Given the description of an element on the screen output the (x, y) to click on. 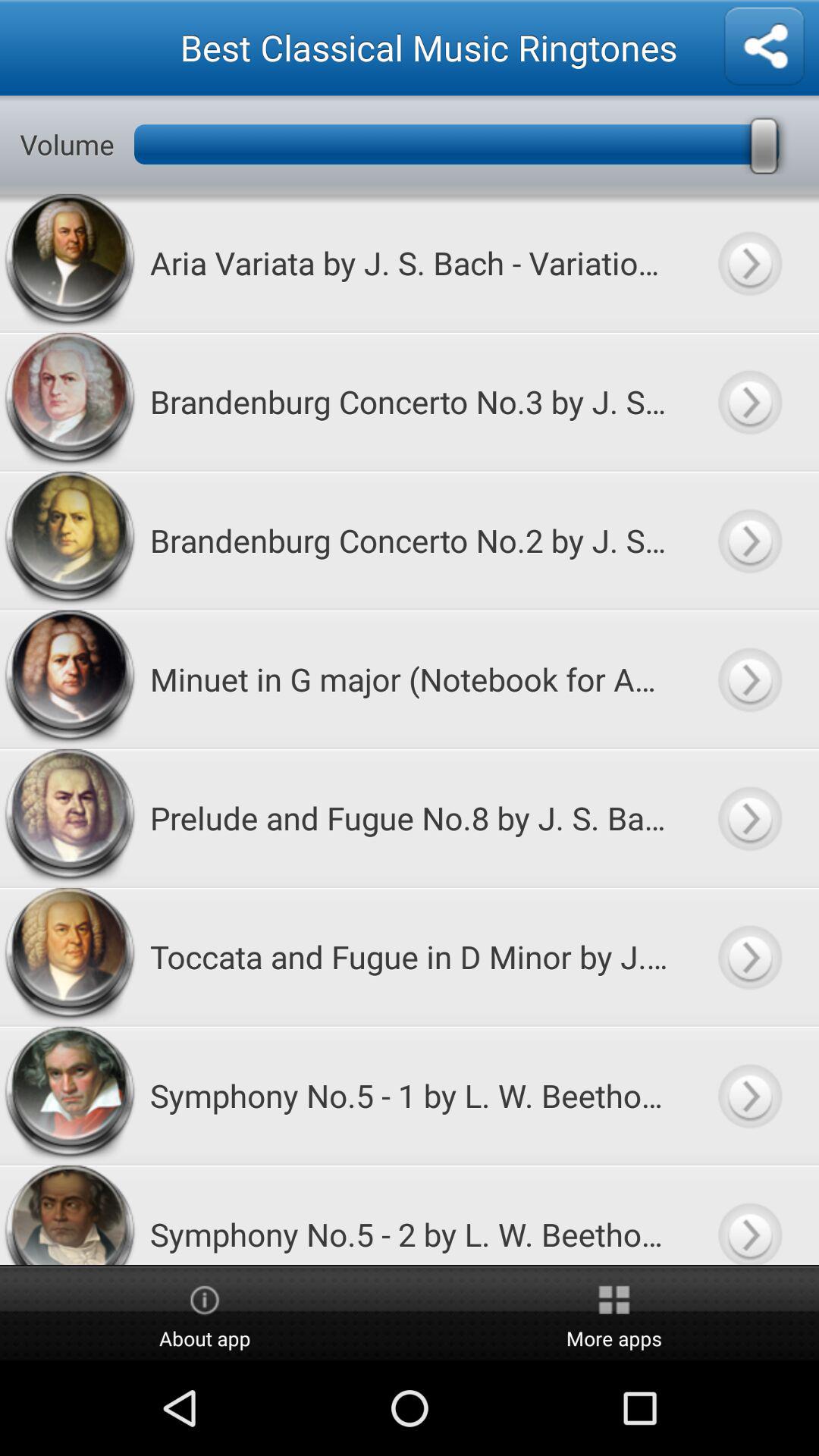
ringtone options (764, 47)
